Given the description of an element on the screen output the (x, y) to click on. 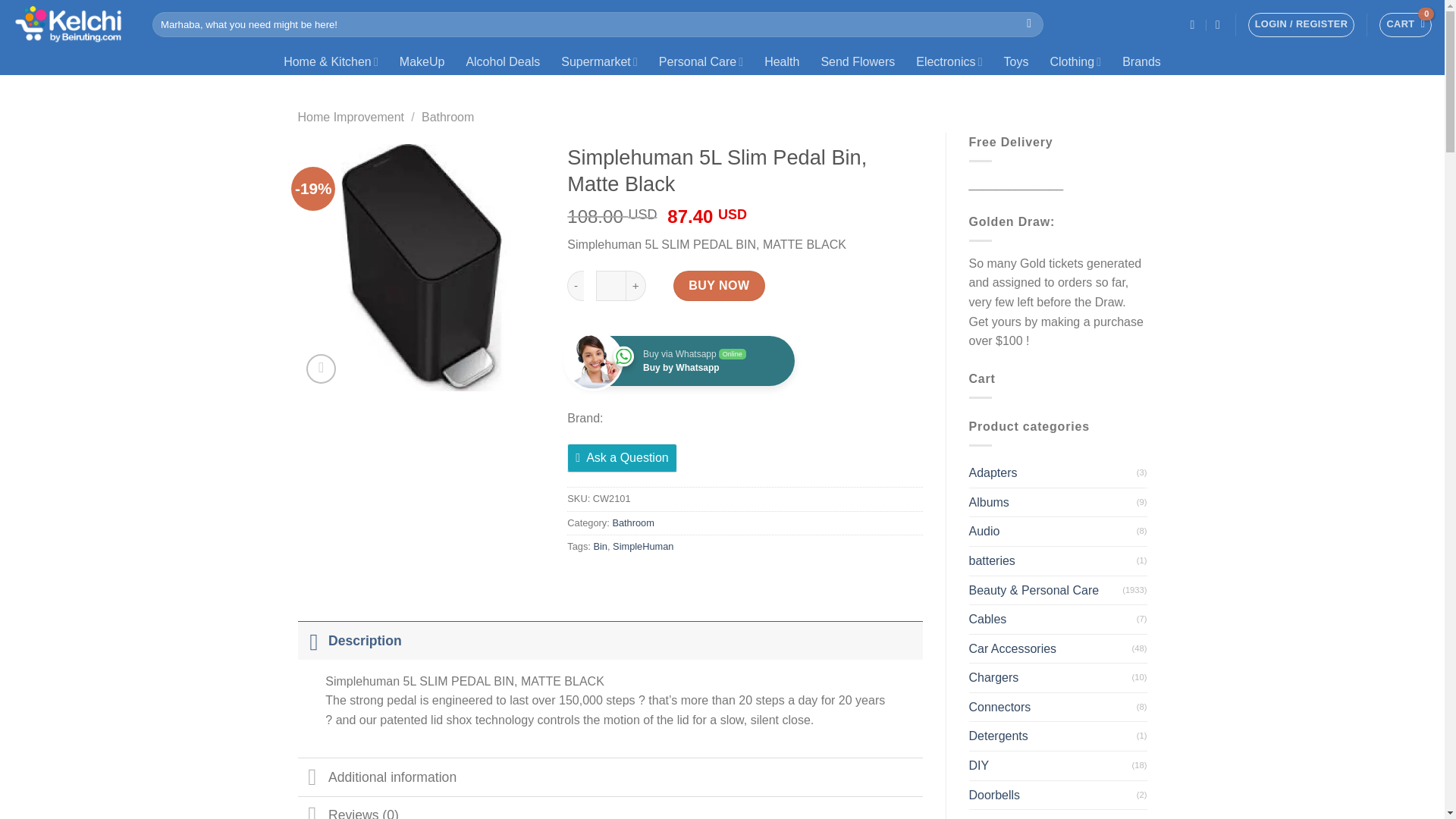
Login (1301, 24)
MakeUp (421, 61)
Personal Care (700, 61)
Zoom (320, 368)
1 (610, 286)
Alcohol Deals (502, 61)
Search (1029, 24)
CART (1404, 24)
Cart (1404, 24)
